Given the description of an element on the screen output the (x, y) to click on. 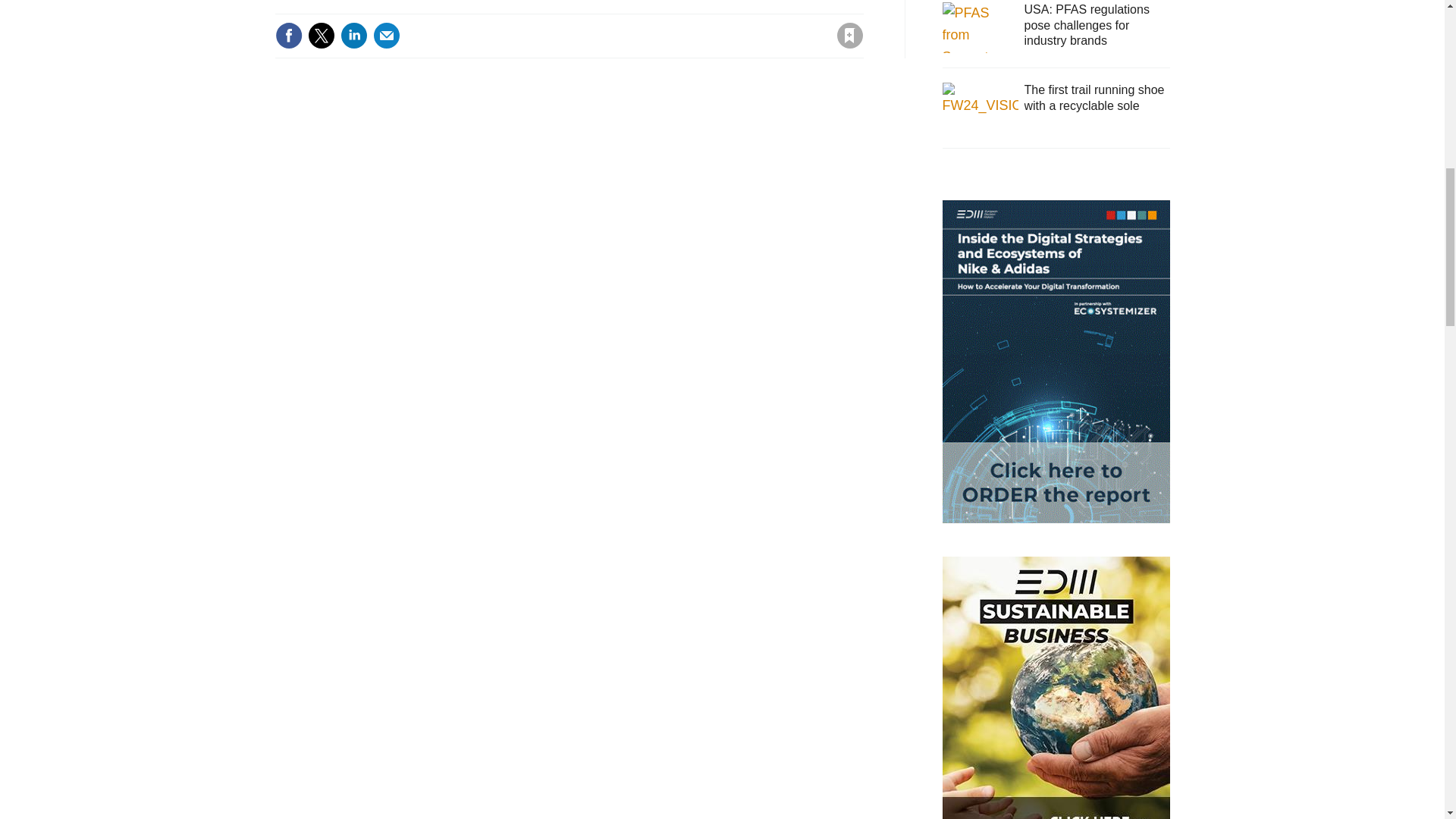
Share this on Facebook (288, 35)
Share this on Linked in (352, 35)
Email this article (386, 35)
Share this on Twitter (320, 35)
